Given the description of an element on the screen output the (x, y) to click on. 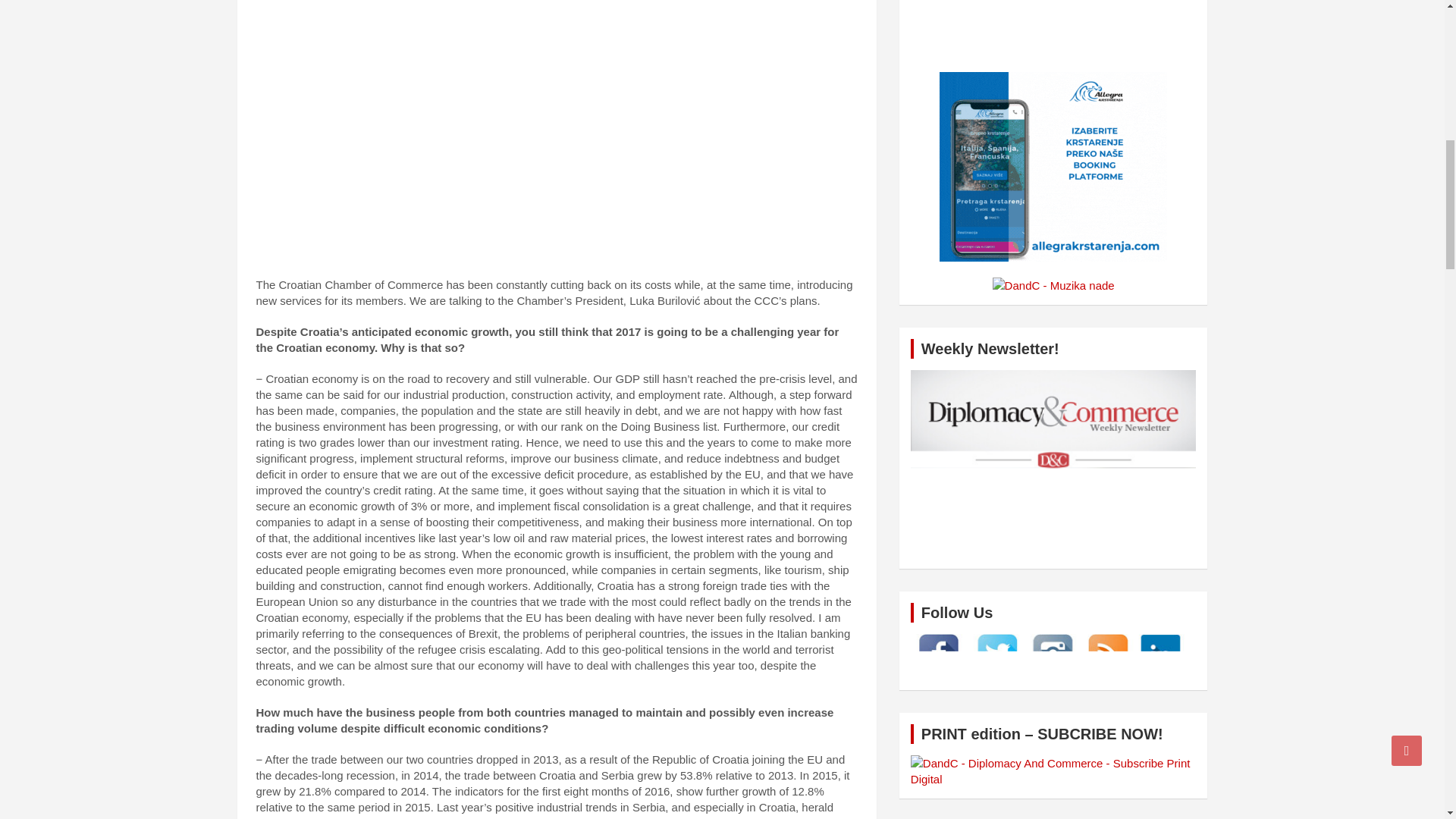
DandC - Diplomacy And Commerce - Subscribe Print Digital (1053, 771)
